Given the description of an element on the screen output the (x, y) to click on. 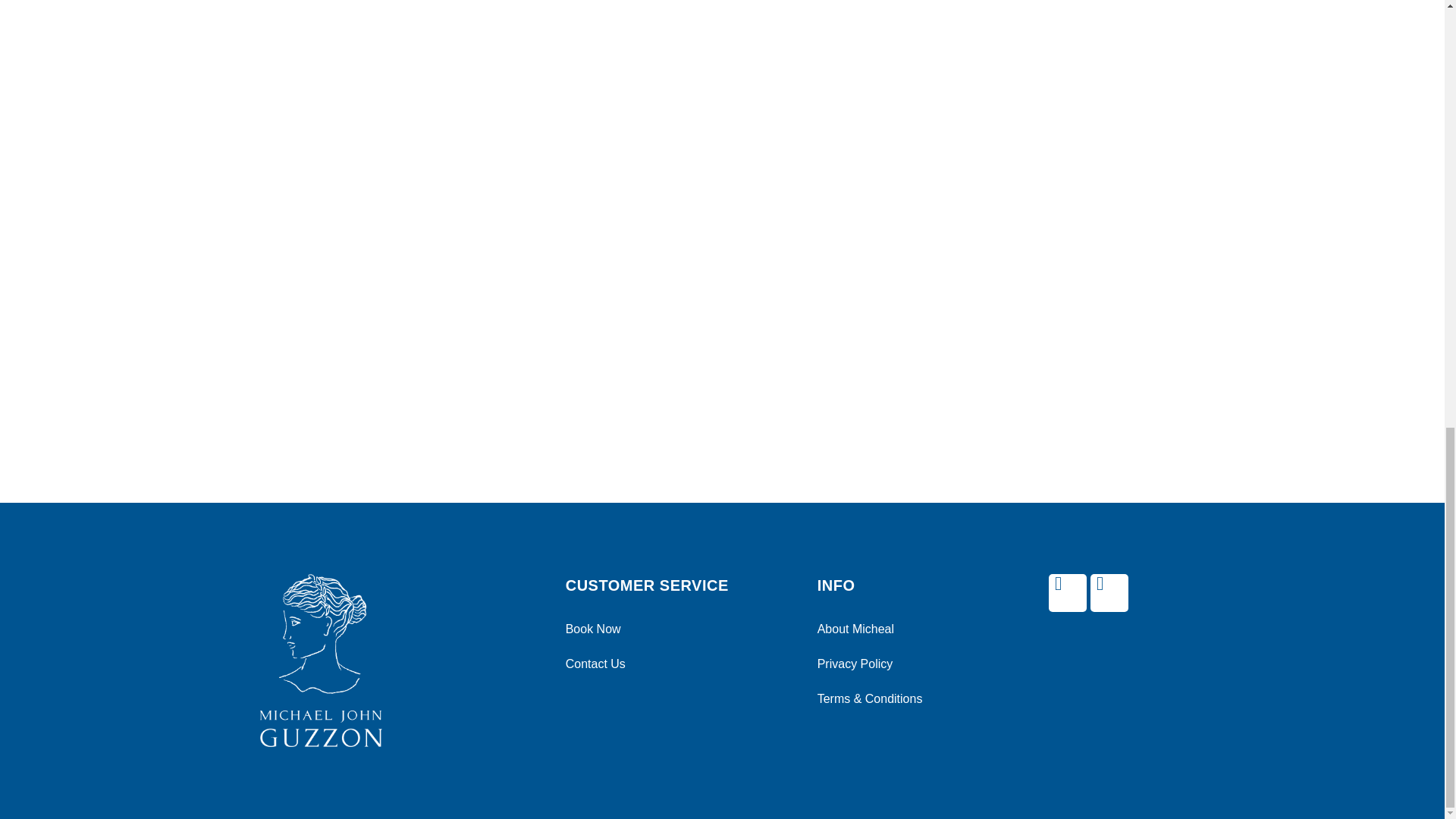
Book Now (676, 629)
Privacy Policy (897, 664)
About Micheal (897, 629)
Contact Us (676, 664)
